Given the description of an element on the screen output the (x, y) to click on. 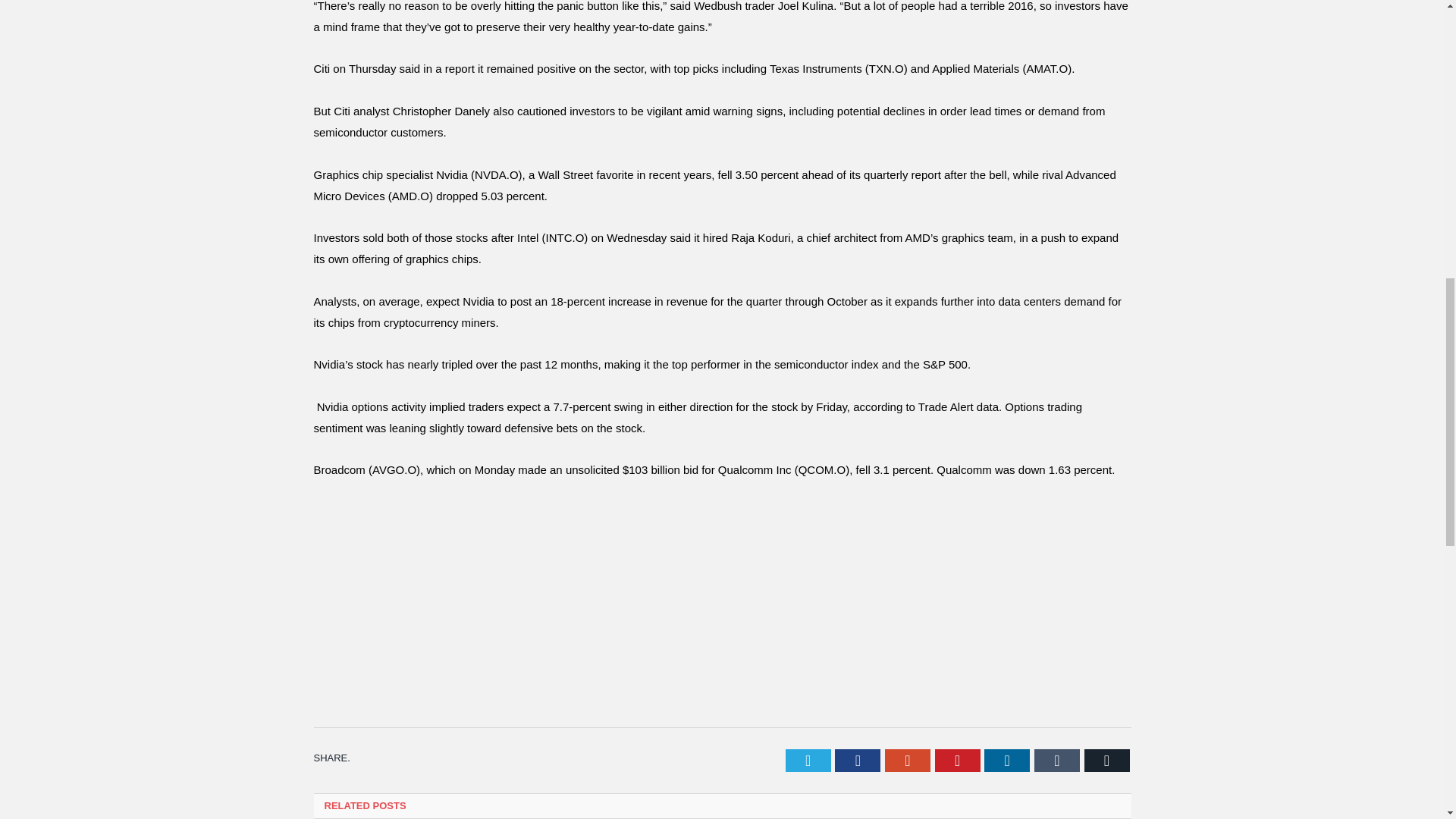
Email (1106, 760)
Facebook (857, 760)
Pinterest (956, 760)
Twitter (808, 760)
LinkedIn (1006, 760)
Tumblr (1056, 760)
